Given the description of an element on the screen output the (x, y) to click on. 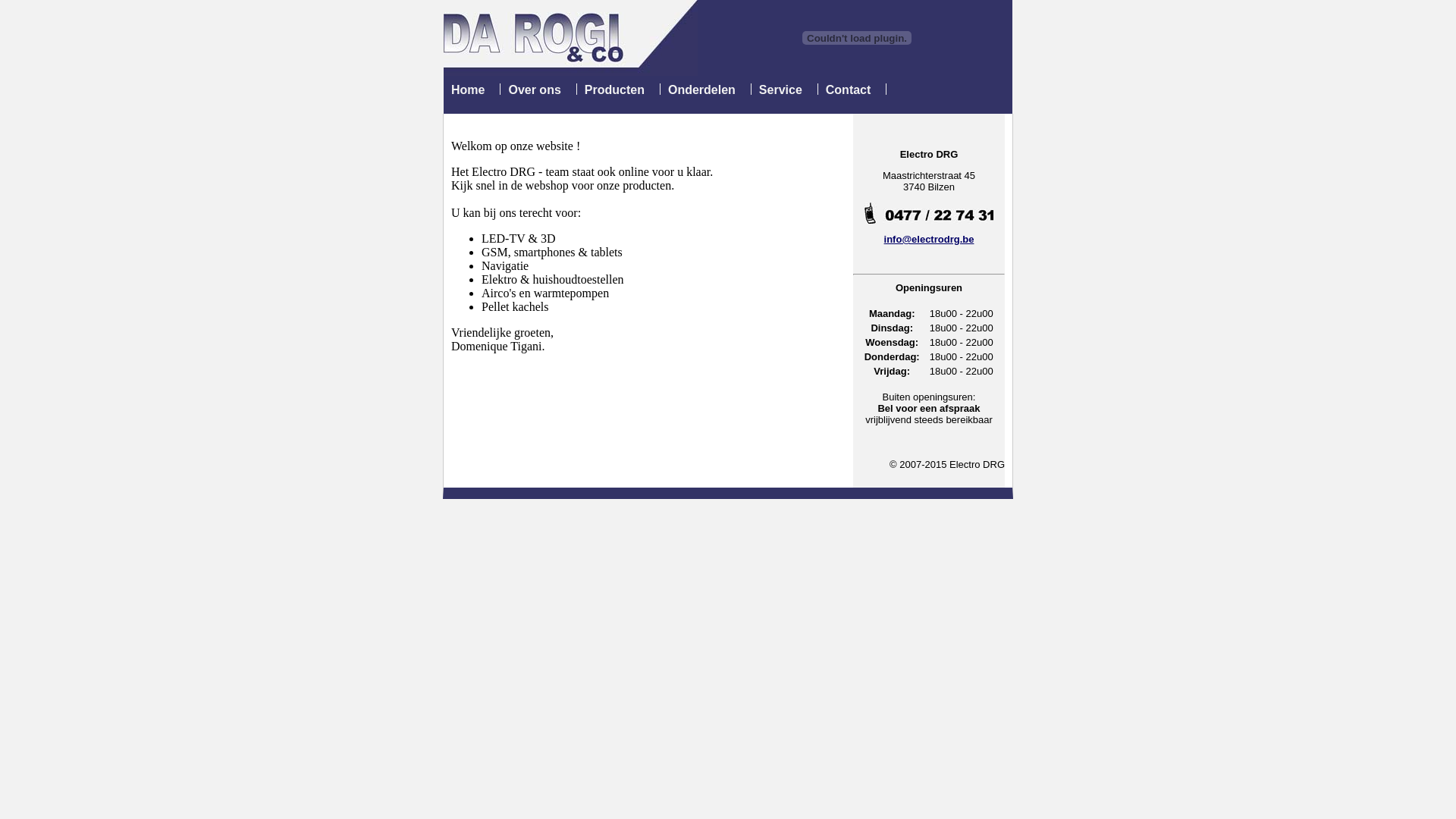
Producten Element type: text (614, 89)
info@electrodrg.be Element type: text (929, 238)
Service Element type: text (780, 89)
Contact Element type: text (848, 89)
Home Element type: text (467, 89)
Over ons Element type: text (534, 89)
Onderdelen Element type: text (701, 89)
